Given the description of an element on the screen output the (x, y) to click on. 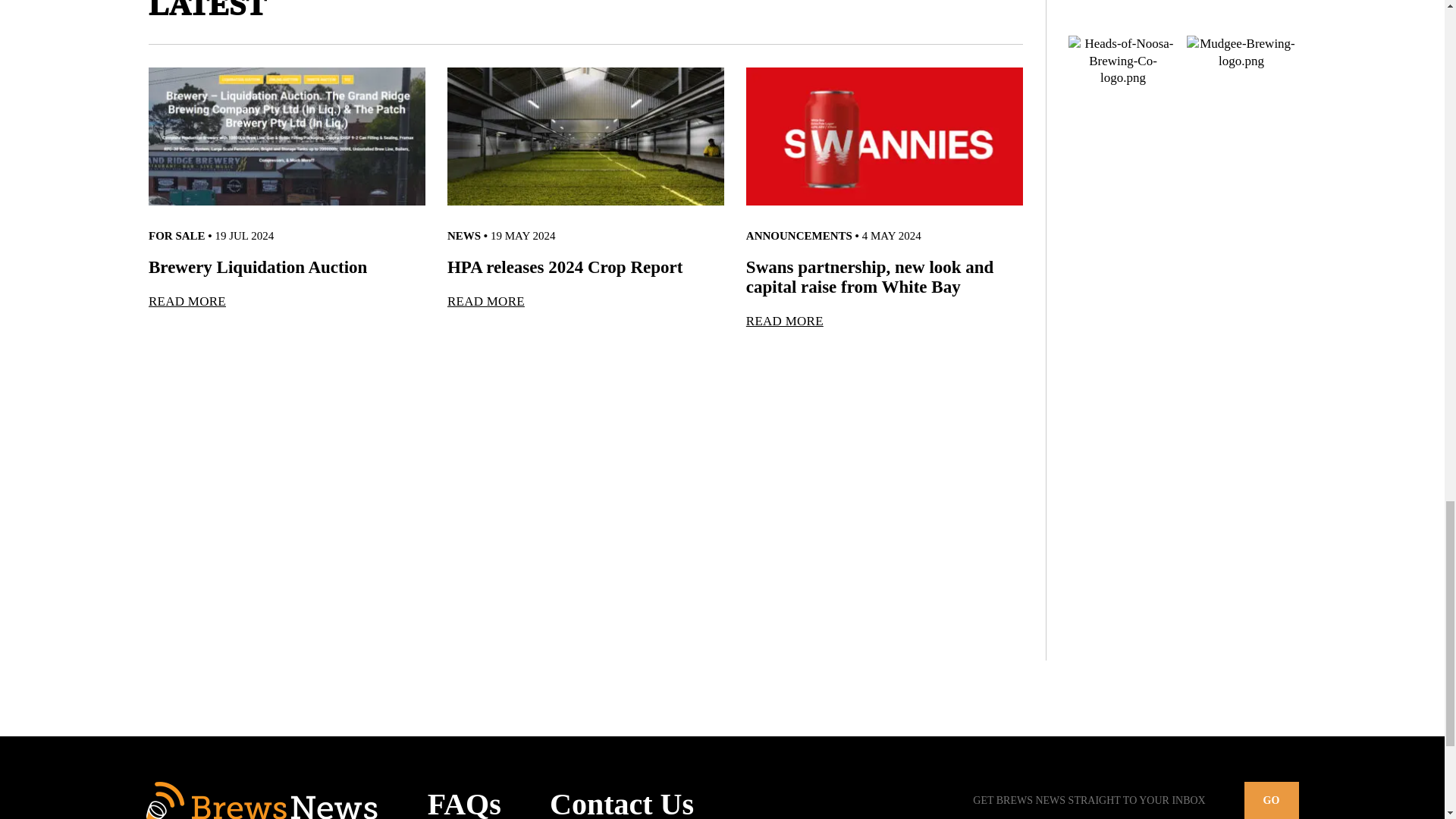
Go (1270, 800)
